Given the description of an element on the screen output the (x, y) to click on. 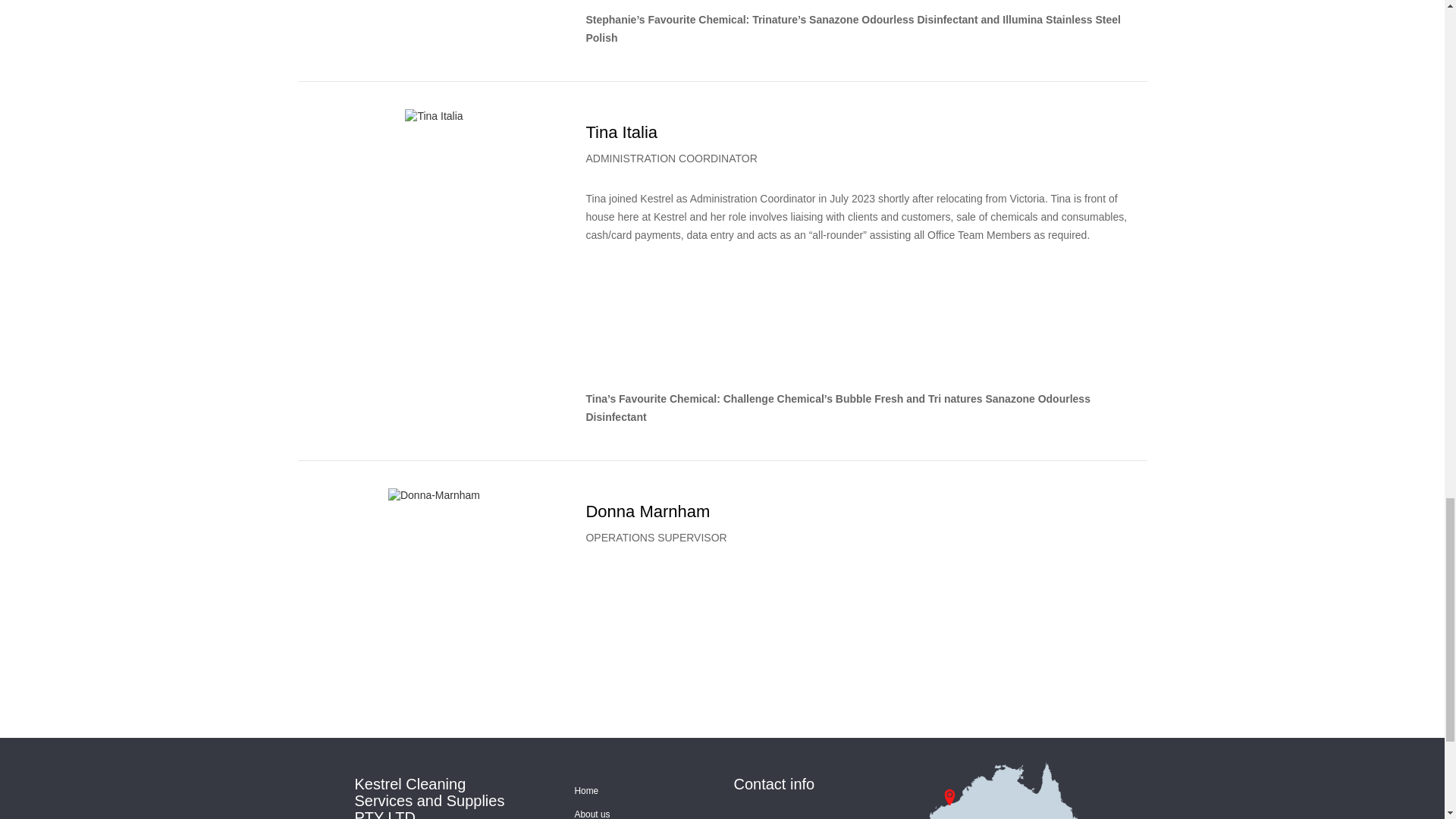
About us (592, 814)
Home (586, 790)
Donna-Marnham (434, 495)
Tina-Italia (433, 116)
